Given the description of an element on the screen output the (x, y) to click on. 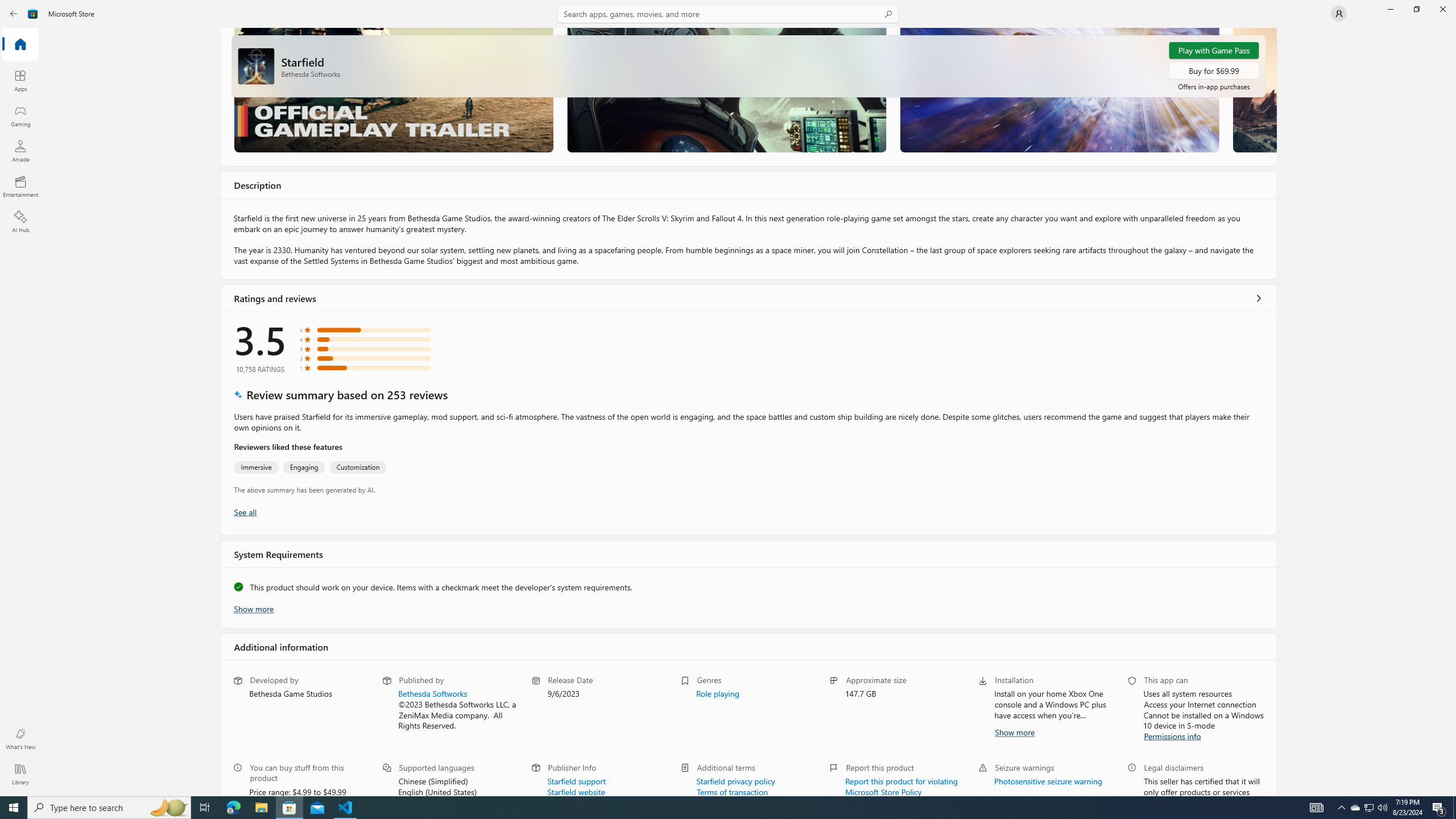
Scroll to top (748, 65)
Bethesda Softworks (432, 692)
Photosensitive seizure warning (1048, 780)
Terms of transaction (732, 791)
Starfield privacy policy (734, 780)
Screenshot 2 (725, 89)
Report this product for violating Microsoft Store Policy (901, 785)
Permissions info (1172, 735)
Gameplay Trailer (393, 89)
Screenshot 4 (1253, 89)
